Given the description of an element on the screen output the (x, y) to click on. 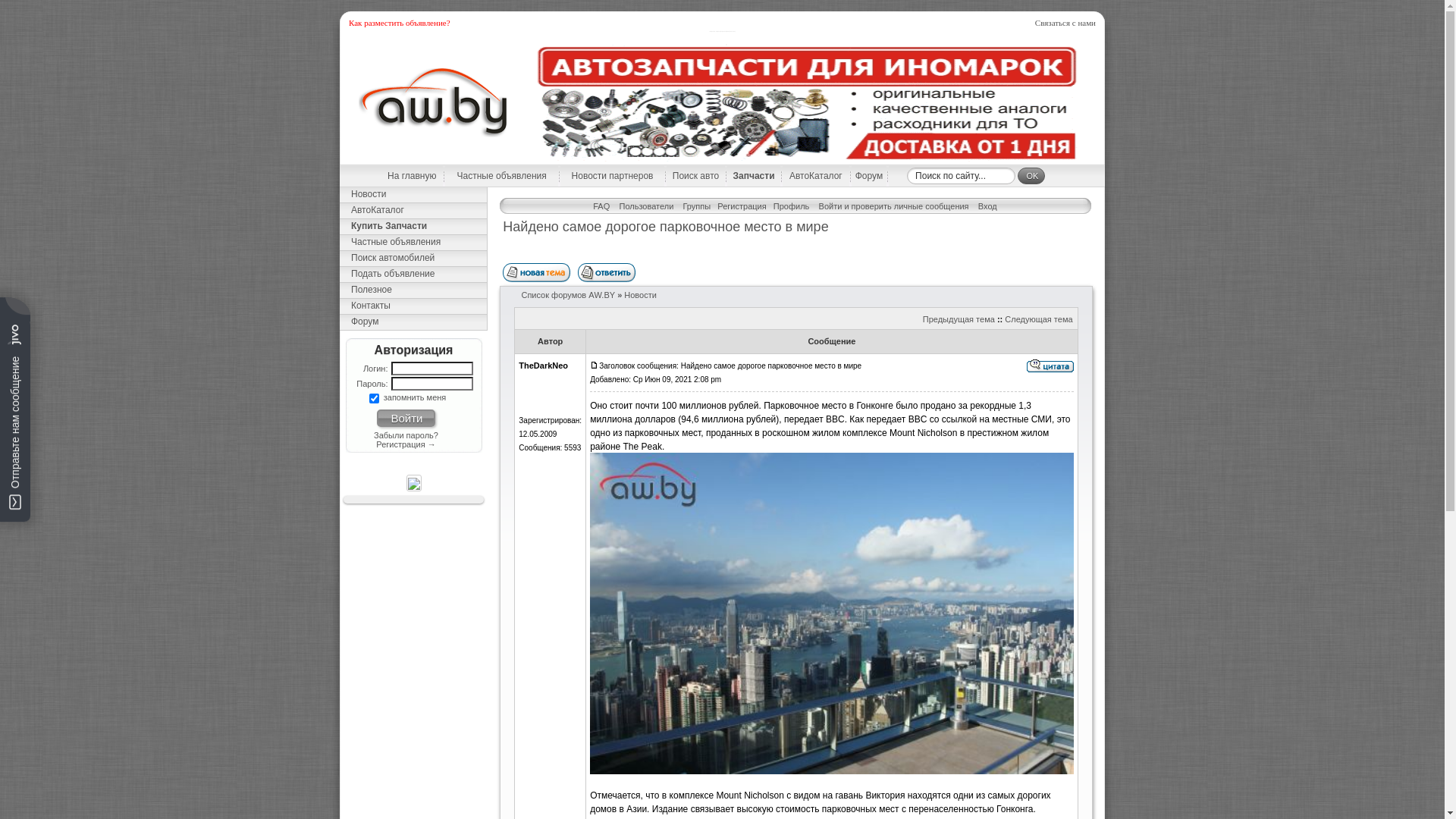
OK Element type: text (1030, 175)
FAQ Element type: text (601, 205)
